Given the description of an element on the screen output the (x, y) to click on. 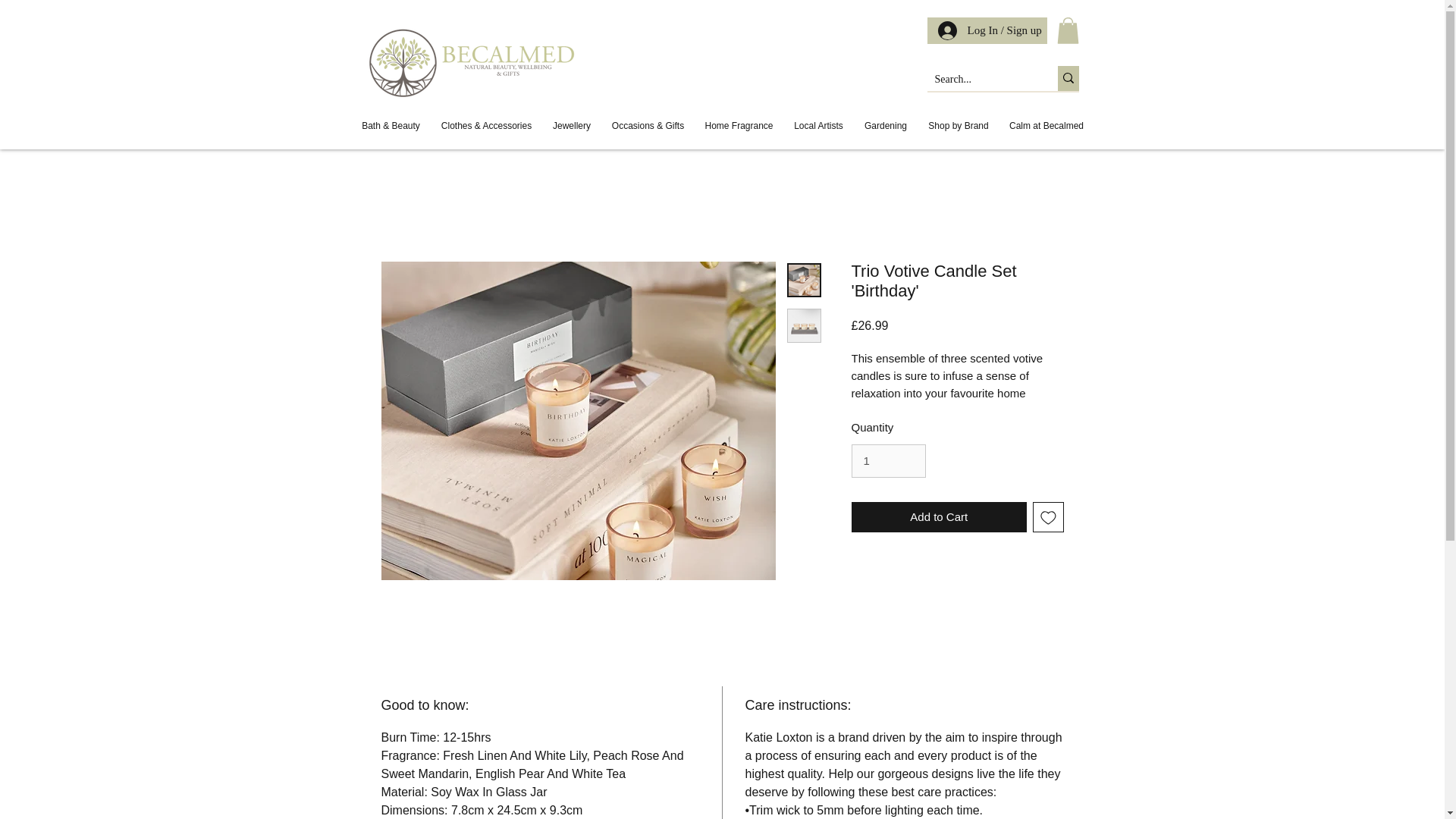
Gardening (885, 125)
Local Artists (818, 125)
1 (887, 460)
Home Fragrance (739, 125)
Jewellery (571, 125)
